Given the description of an element on the screen output the (x, y) to click on. 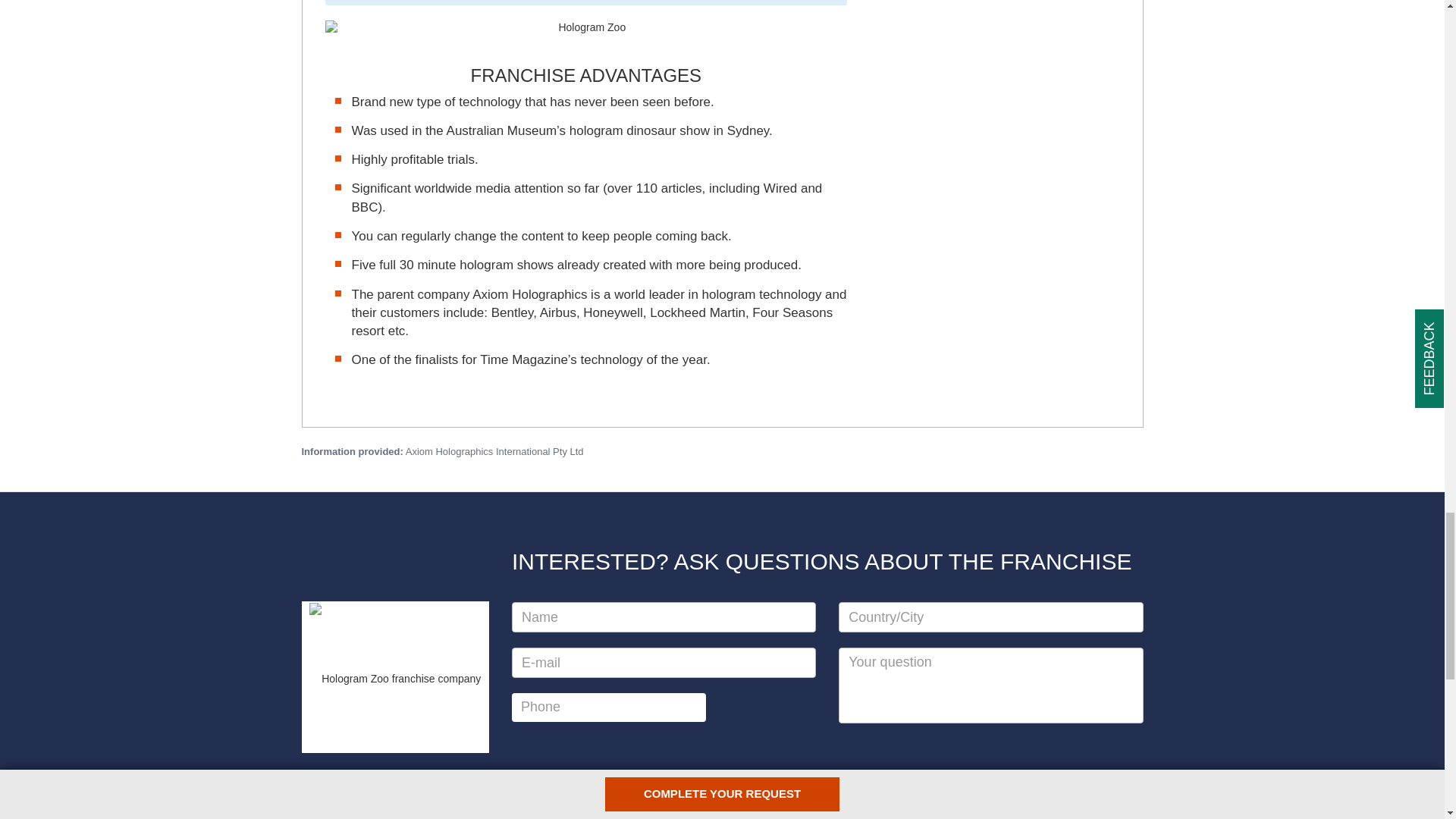
Hologram Zoo (585, 28)
